Given the description of an element on the screen output the (x, y) to click on. 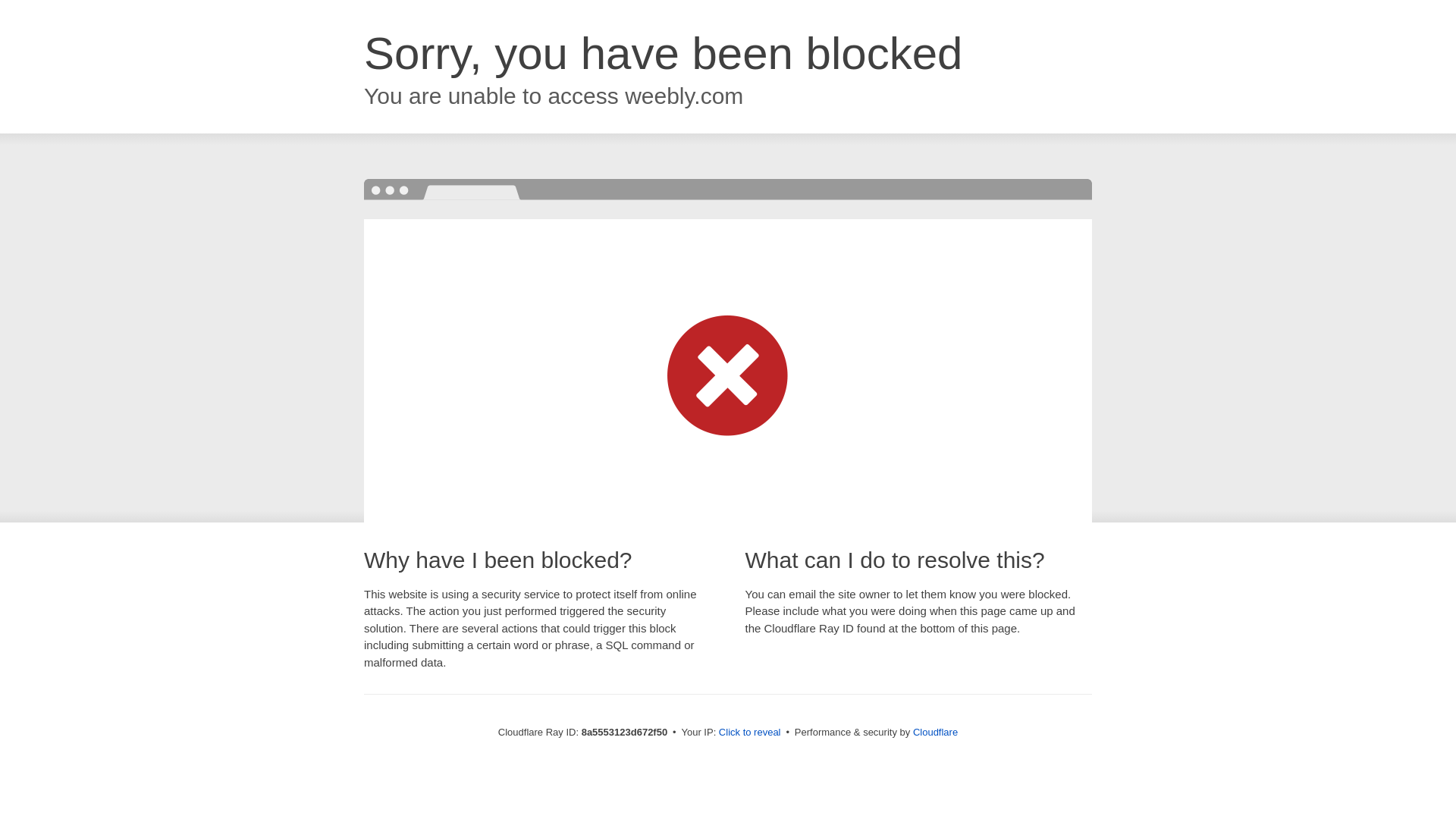
Click to reveal (749, 732)
Cloudflare (935, 731)
